Given the description of an element on the screen output the (x, y) to click on. 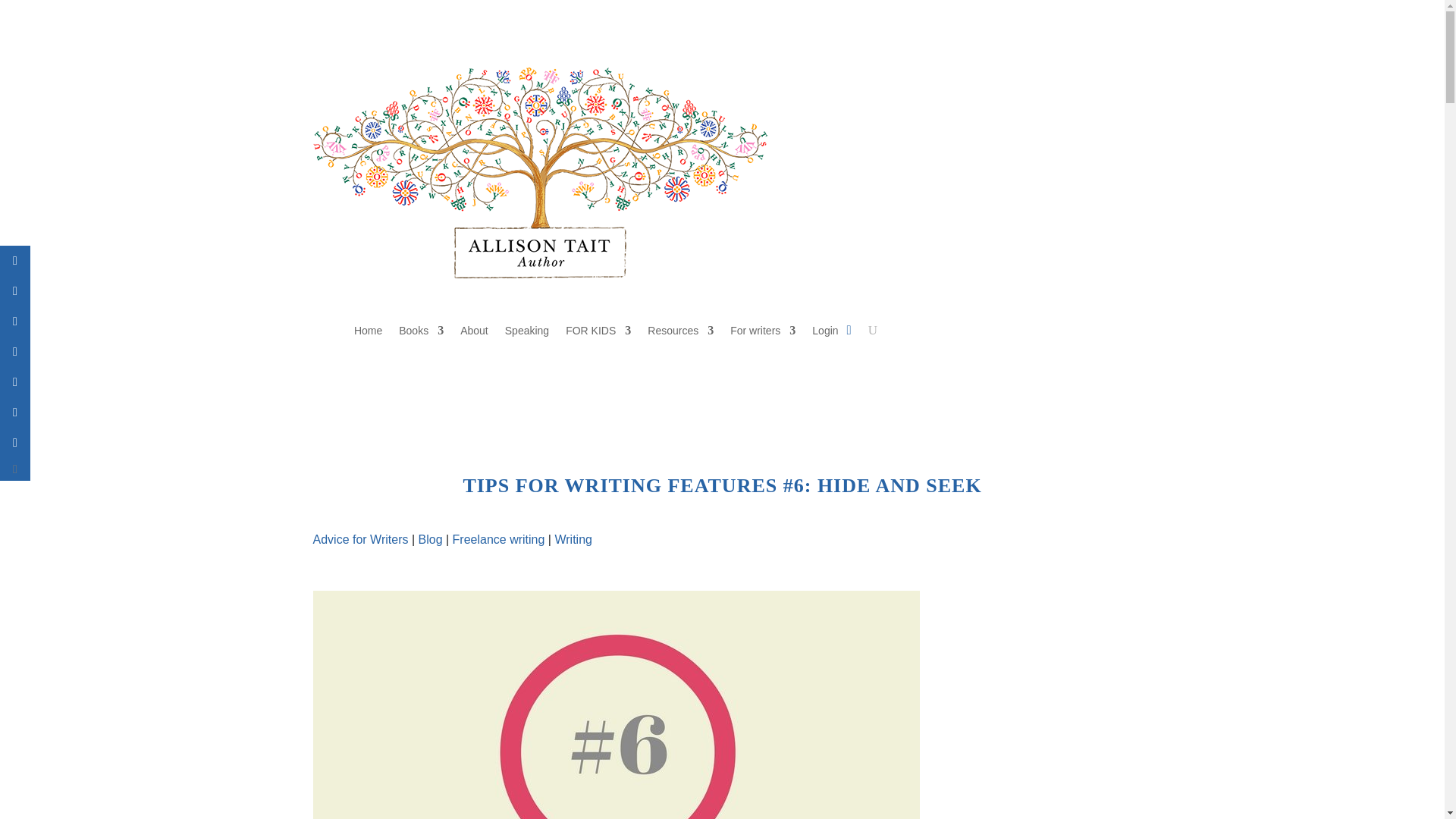
Freelance writing (498, 539)
About (473, 333)
Writing (573, 539)
Books (421, 333)
Resources (680, 333)
For writers (762, 333)
Follow on Instagram (1059, 331)
Follow on Facebook (999, 331)
Advice for Writers (360, 539)
Follow on X (1029, 331)
Login (825, 333)
FOR KIDS (598, 333)
Blog (430, 539)
Speaking (526, 333)
